Given the description of an element on the screen output the (x, y) to click on. 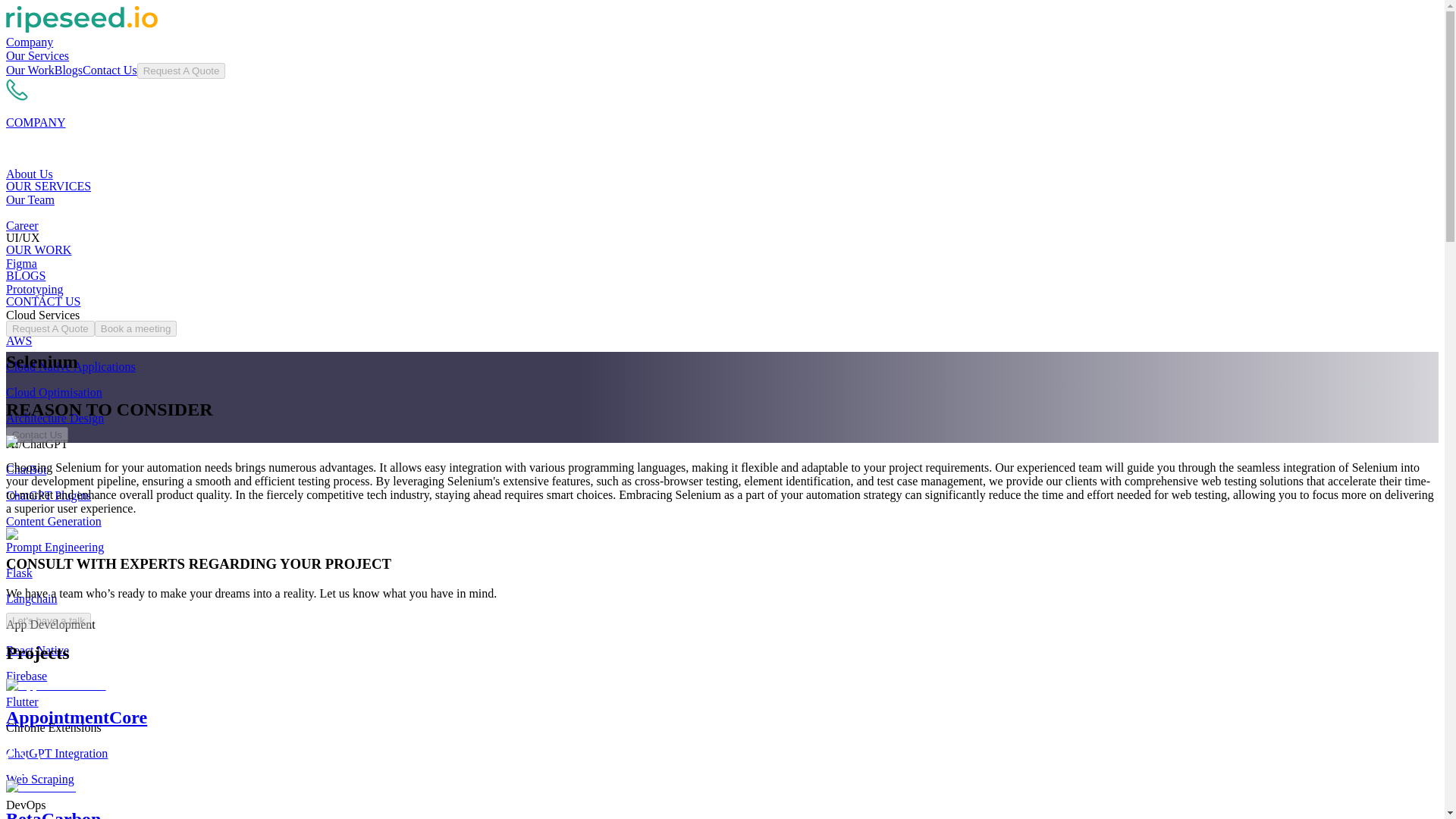
Request A Quote (180, 69)
Request A Quote (180, 70)
Contact Us (109, 69)
Blogs (68, 69)
Our Work (30, 69)
